Given the description of an element on the screen output the (x, y) to click on. 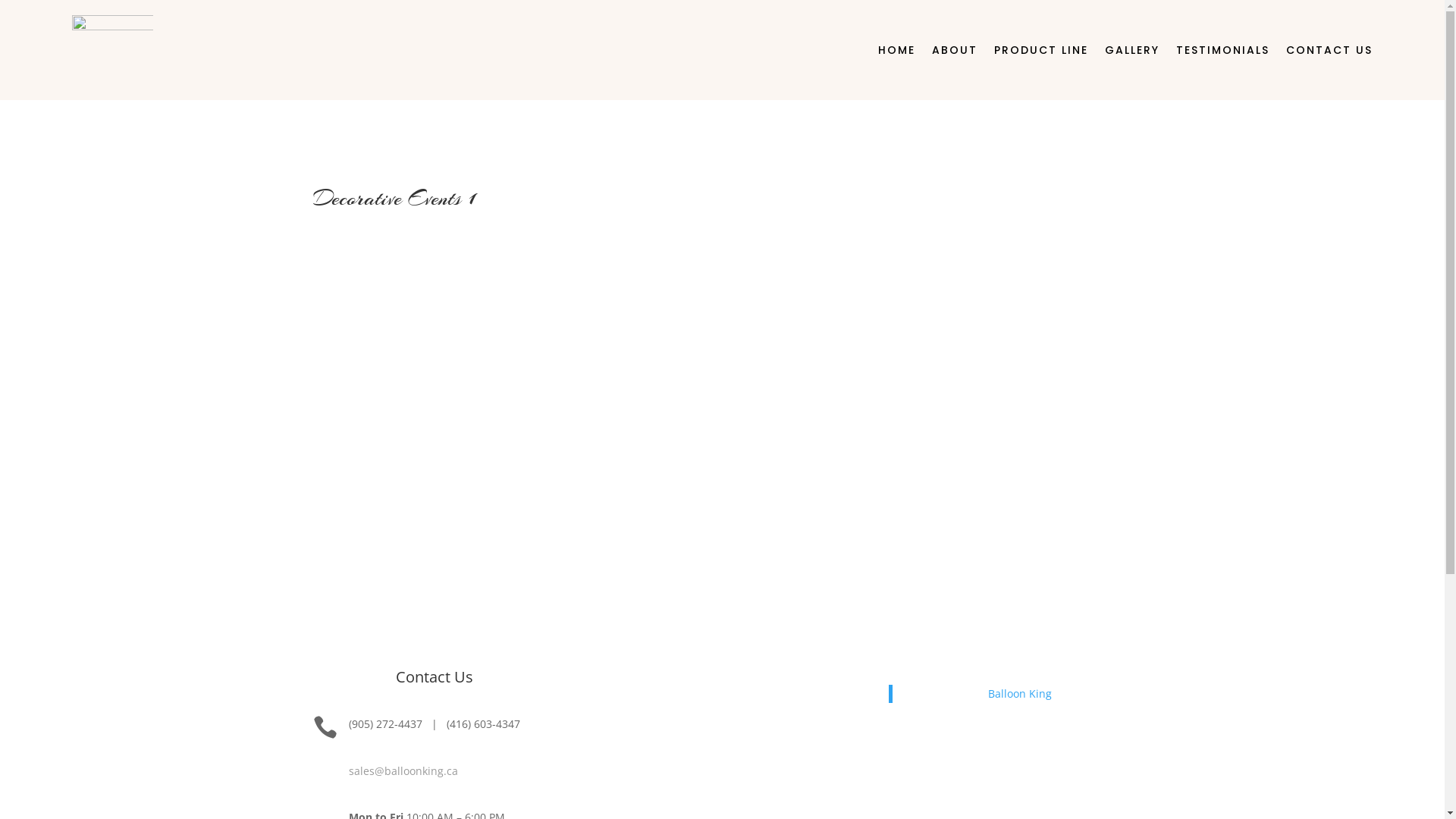
TESTIMONIALS Element type: text (1222, 49)
sales@balloonking.ca Element type: text (403, 770)
CONTACT US Element type: text (1329, 49)
GALLERY Element type: text (1131, 49)
ABOUT Element type: text (954, 49)
PRODUCT LINE Element type: text (1041, 49)
HOME Element type: text (896, 49)
Balloon King Element type: text (1019, 693)
